Given the description of an element on the screen output the (x, y) to click on. 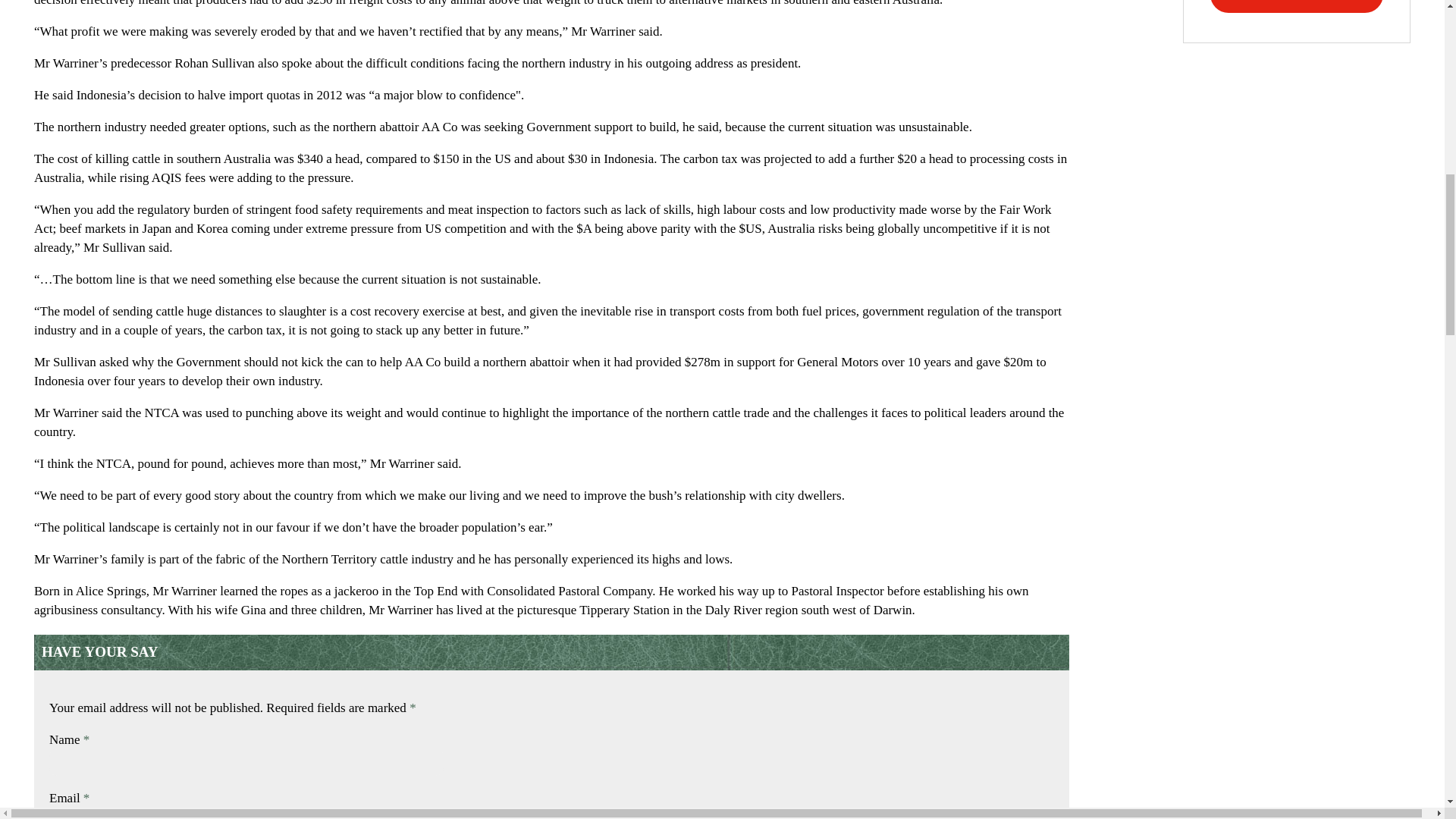
3rd party ad content (1296, 334)
3rd party ad content (1296, 734)
3rd party ad content (1296, 187)
3rd party ad content (1296, 21)
3rd party ad content (1296, 96)
3rd party ad content (1296, 539)
